Given the description of an element on the screen output the (x, y) to click on. 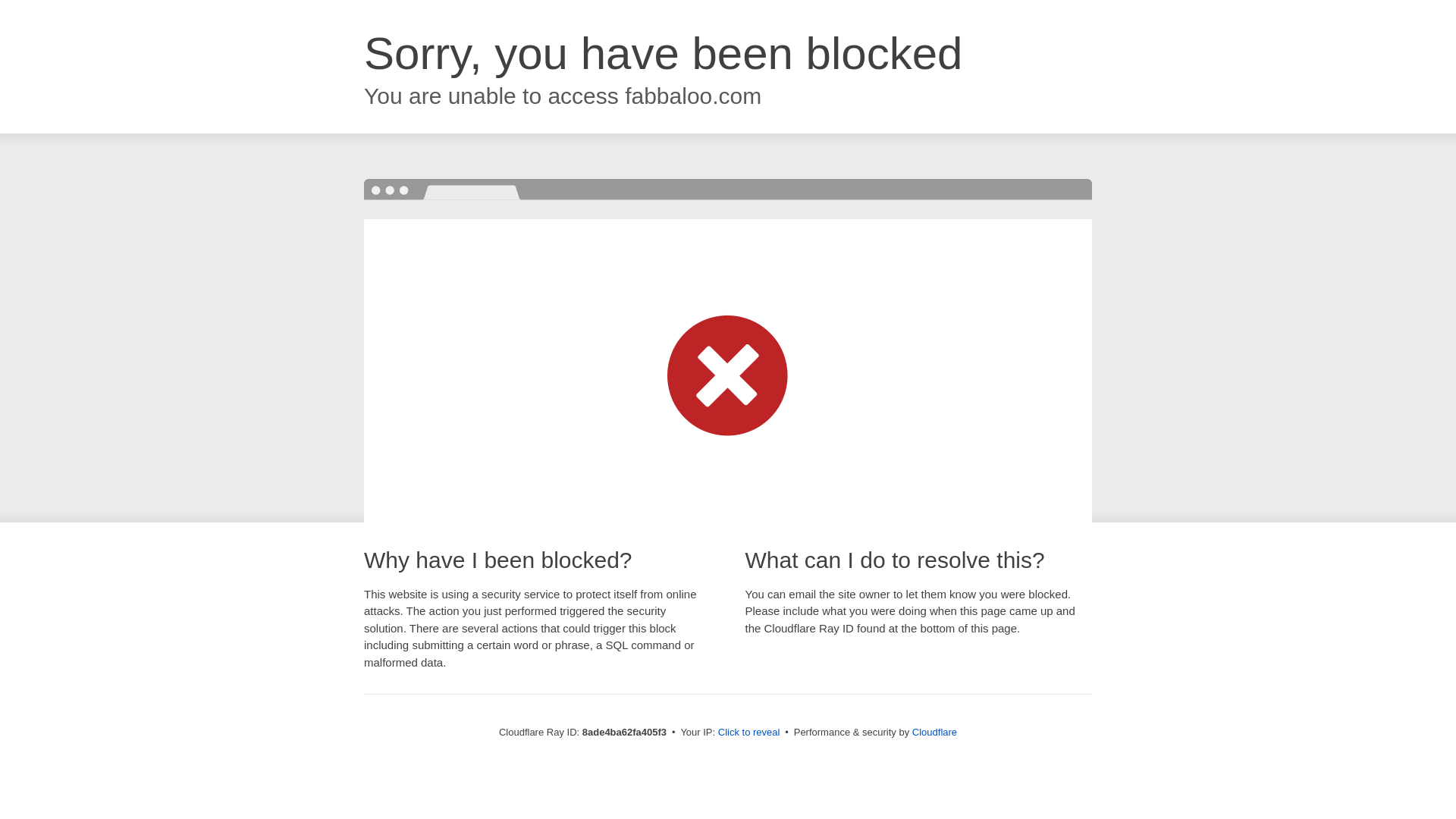
Click to reveal (748, 732)
Cloudflare (934, 731)
